Given the description of an element on the screen output the (x, y) to click on. 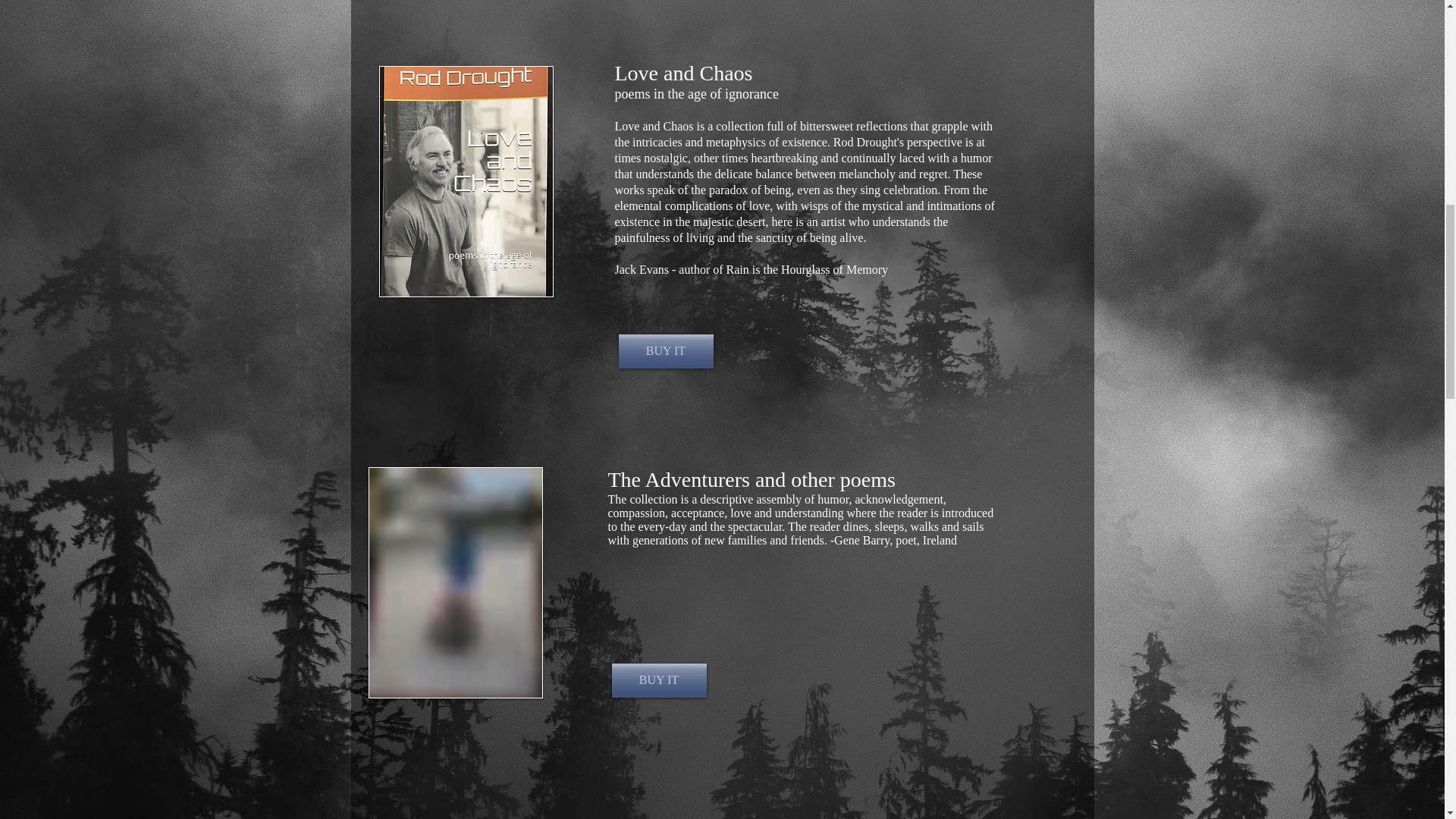
BUY IT (665, 351)
BUY IT (658, 680)
